Given the description of an element on the screen output the (x, y) to click on. 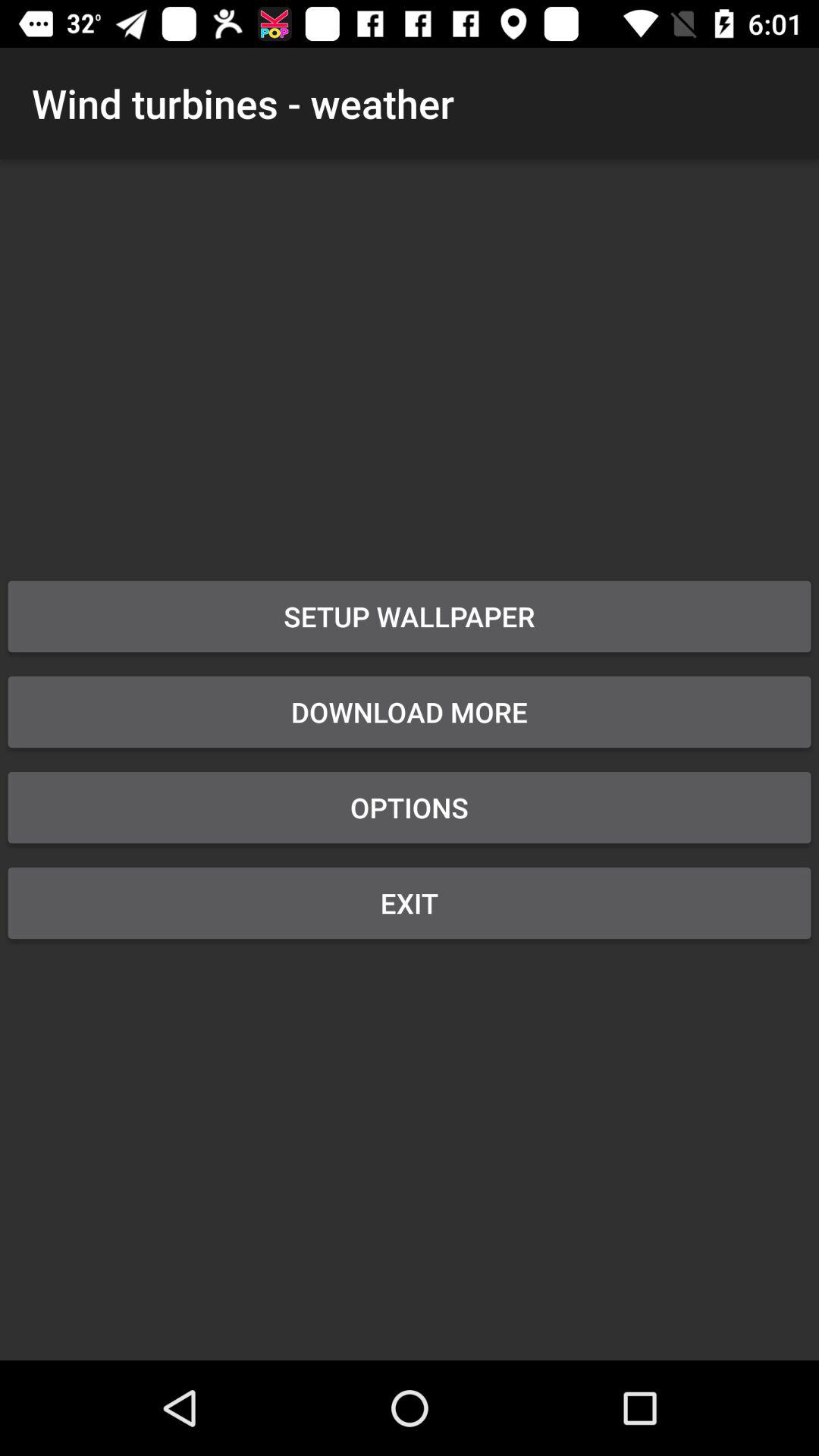
scroll to the setup wallpaper button (409, 616)
